Given the description of an element on the screen output the (x, y) to click on. 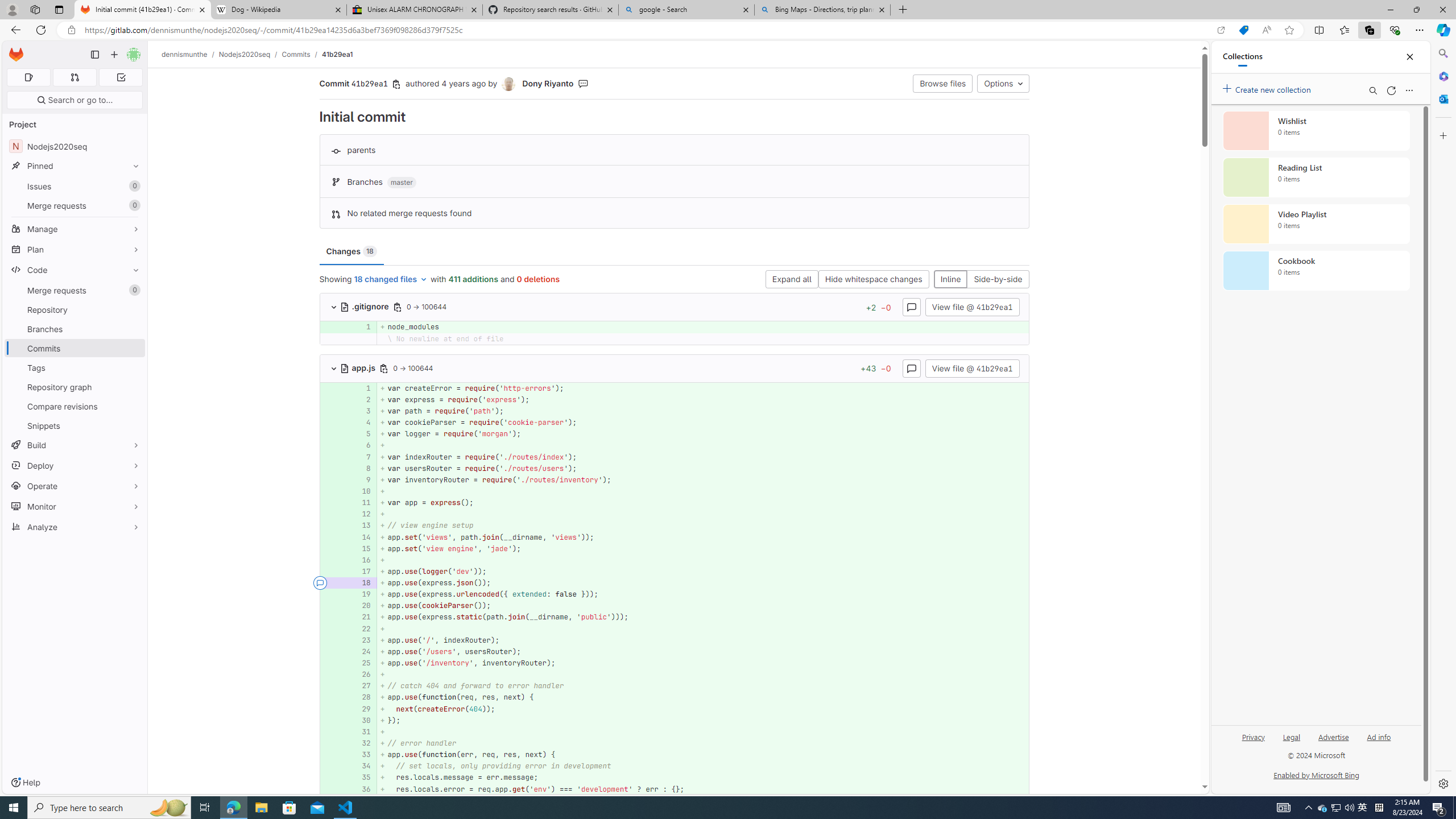
Deploy (74, 465)
View site information (70, 29)
Add this page to favorites (Ctrl+D) (1289, 29)
17 (360, 571)
Changes 18 (351, 251)
Side bar (1443, 418)
9 (360, 479)
29 (362, 708)
Branches (74, 328)
Repository (74, 309)
master (401, 182)
Snippets (74, 425)
AutomationID: 4a68969ef8e858229267b842dedf42ab5dde4d50_0_29 (674, 708)
AutomationID: 4a68969ef8e858229267b842dedf42ab5dde4d50_0_19 (674, 594)
